Given the description of an element on the screen output the (x, y) to click on. 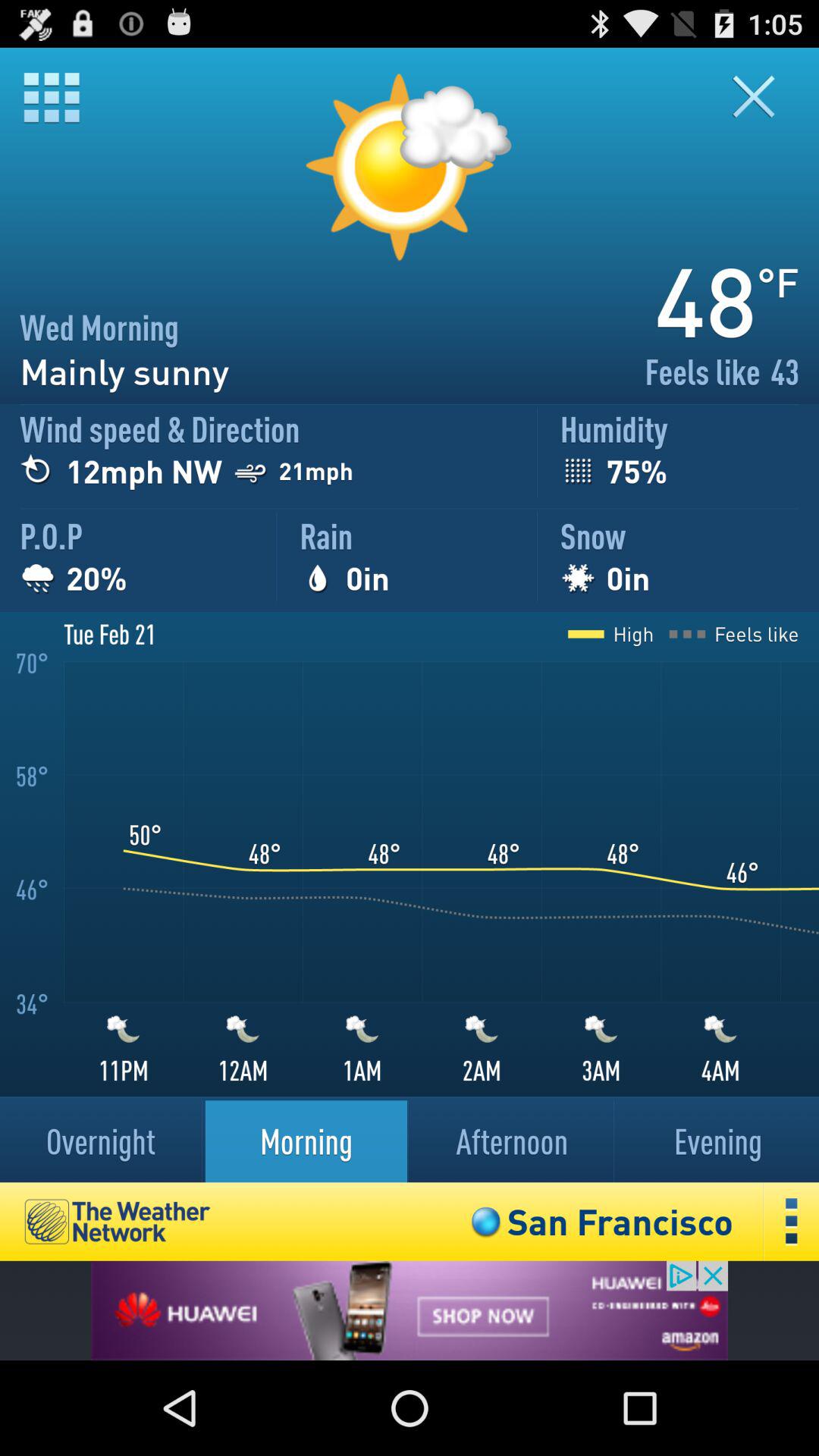
click to the menu box (51, 97)
